Given the description of an element on the screen output the (x, y) to click on. 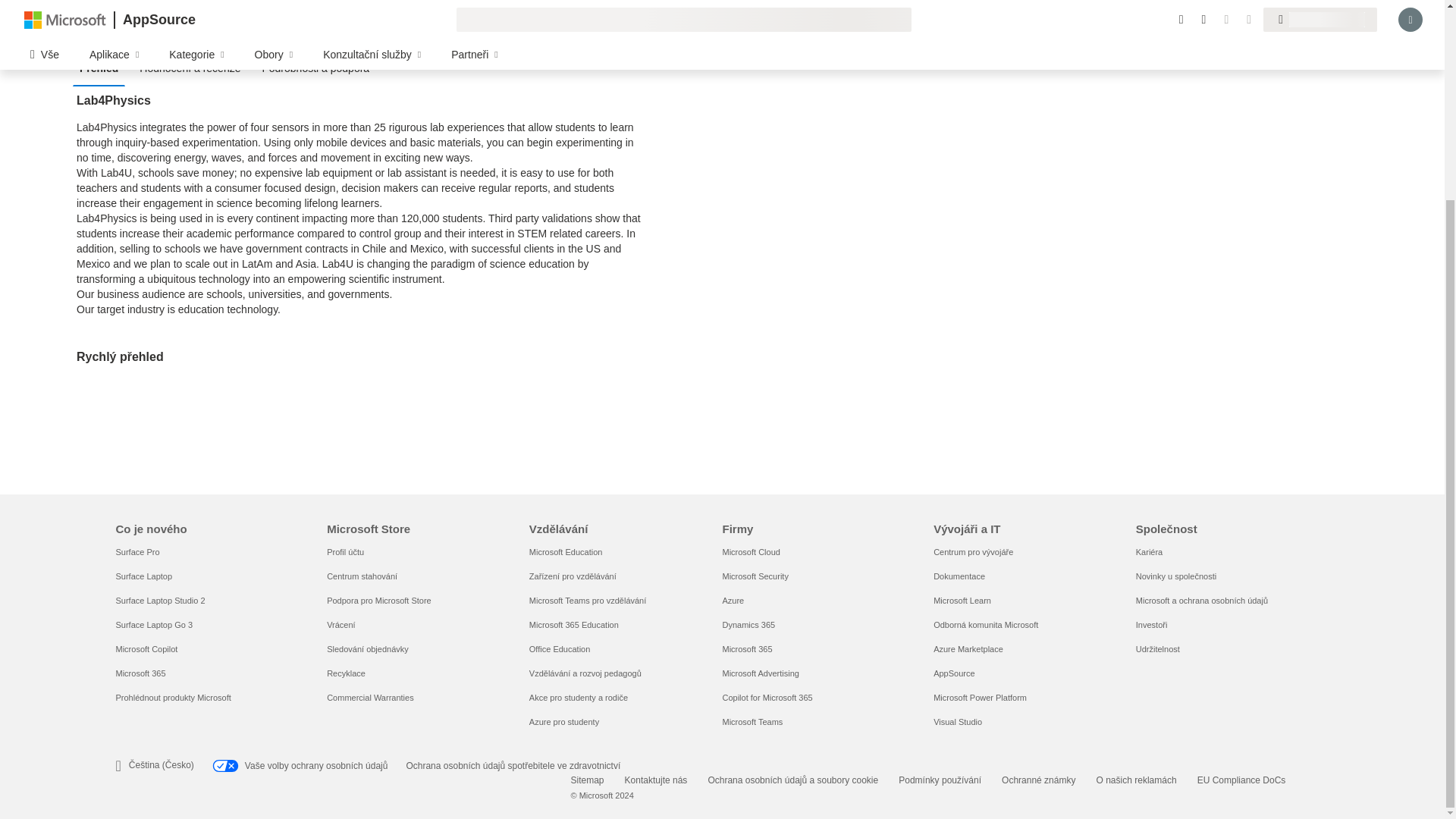
Commercial Warranties (369, 696)
Microsoft Education (565, 551)
Surface Laptop Go 3 (153, 624)
Surface Laptop (143, 575)
Surface Laptop Studio 2 (160, 600)
Microsoft 365 (140, 673)
Office Education (560, 648)
Recyklace (345, 673)
Podpora pro Microsoft Store (378, 600)
Podrobnosti a podpora (319, 67)
Microsoft 365 Education (573, 624)
Surface Pro (136, 551)
Microsoft Copilot (146, 648)
